Given the description of an element on the screen output the (x, y) to click on. 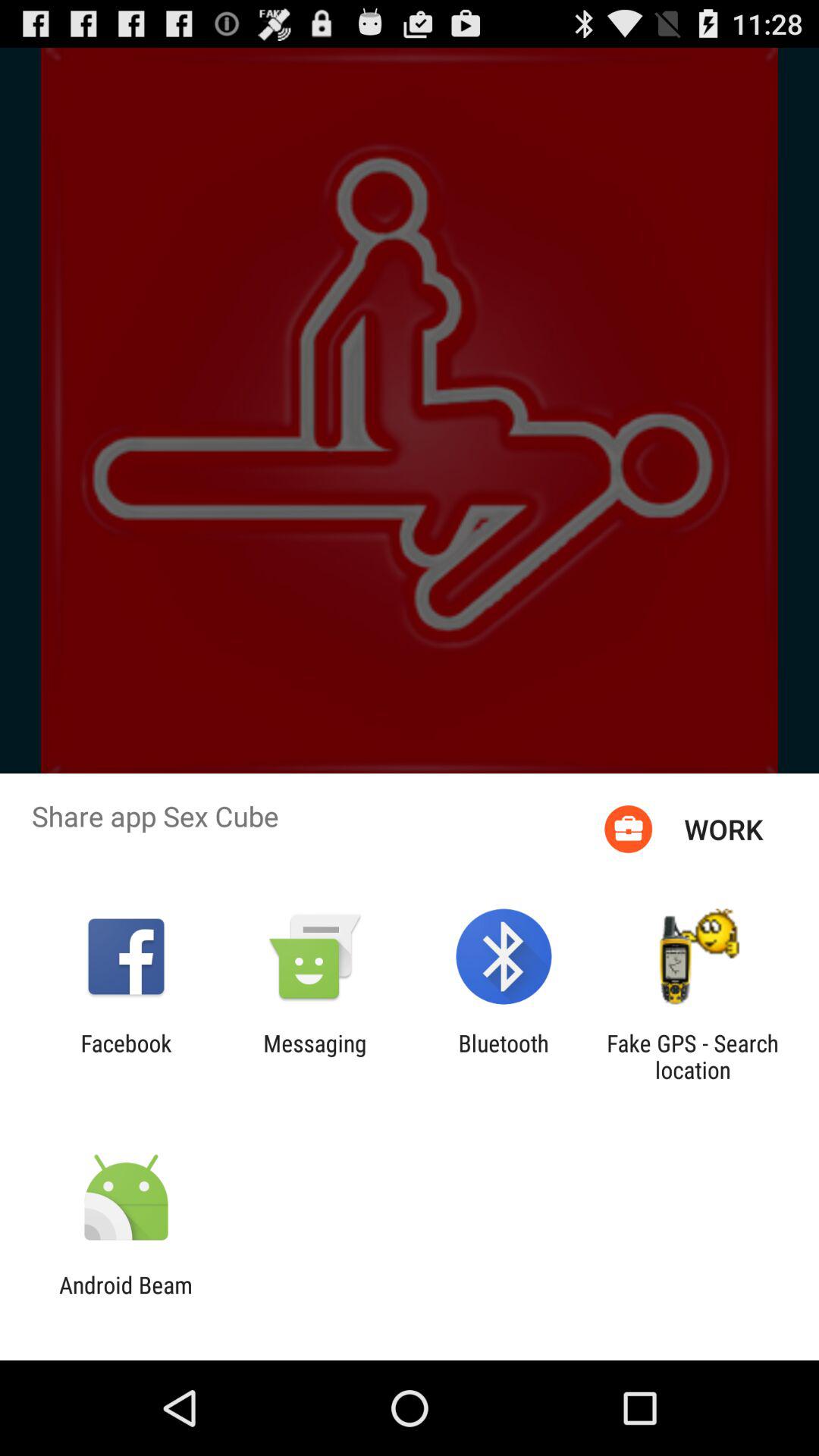
click the messaging app (314, 1056)
